Given the description of an element on the screen output the (x, y) to click on. 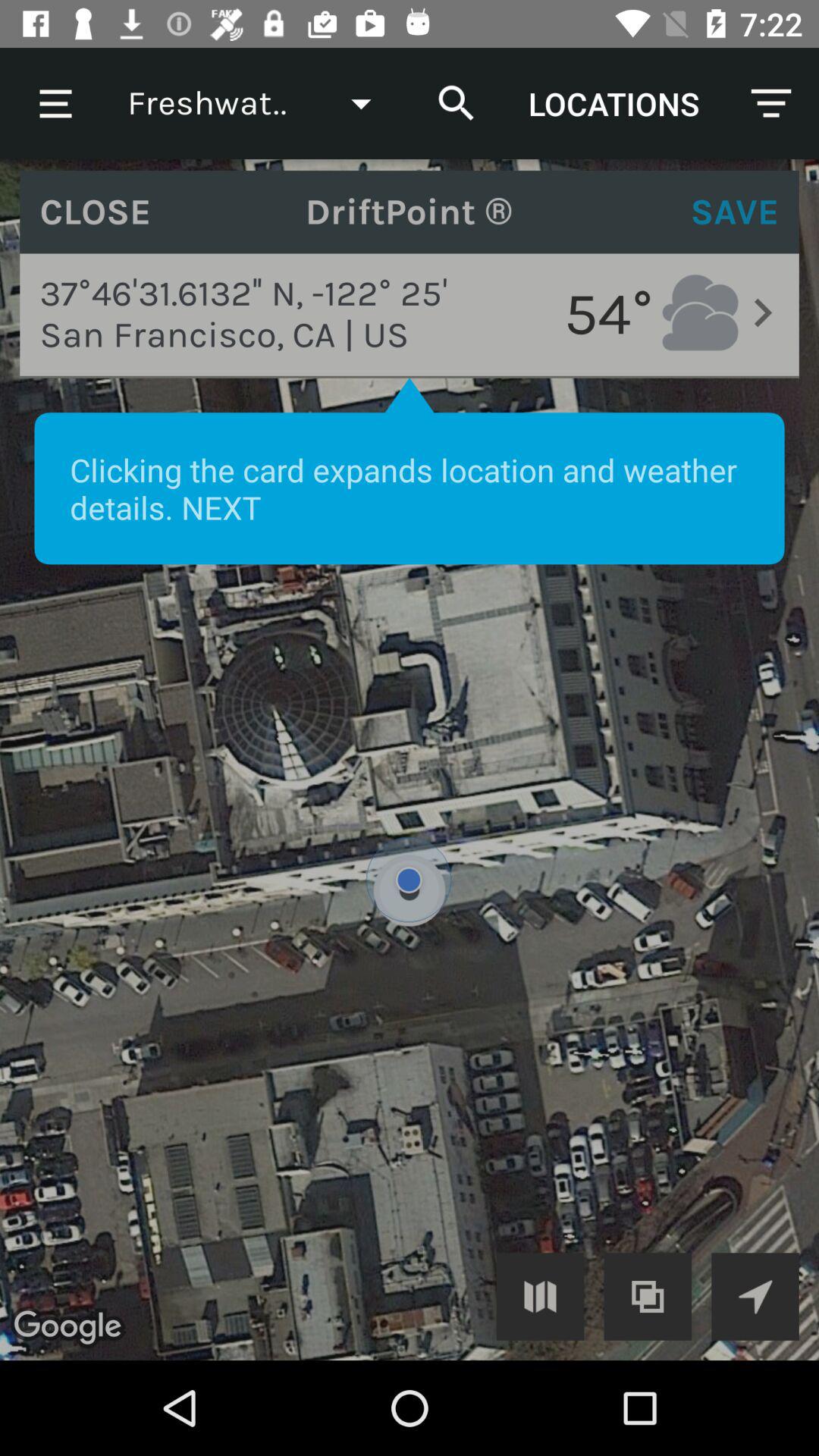
go to google (755, 1296)
